Given the description of an element on the screen output the (x, y) to click on. 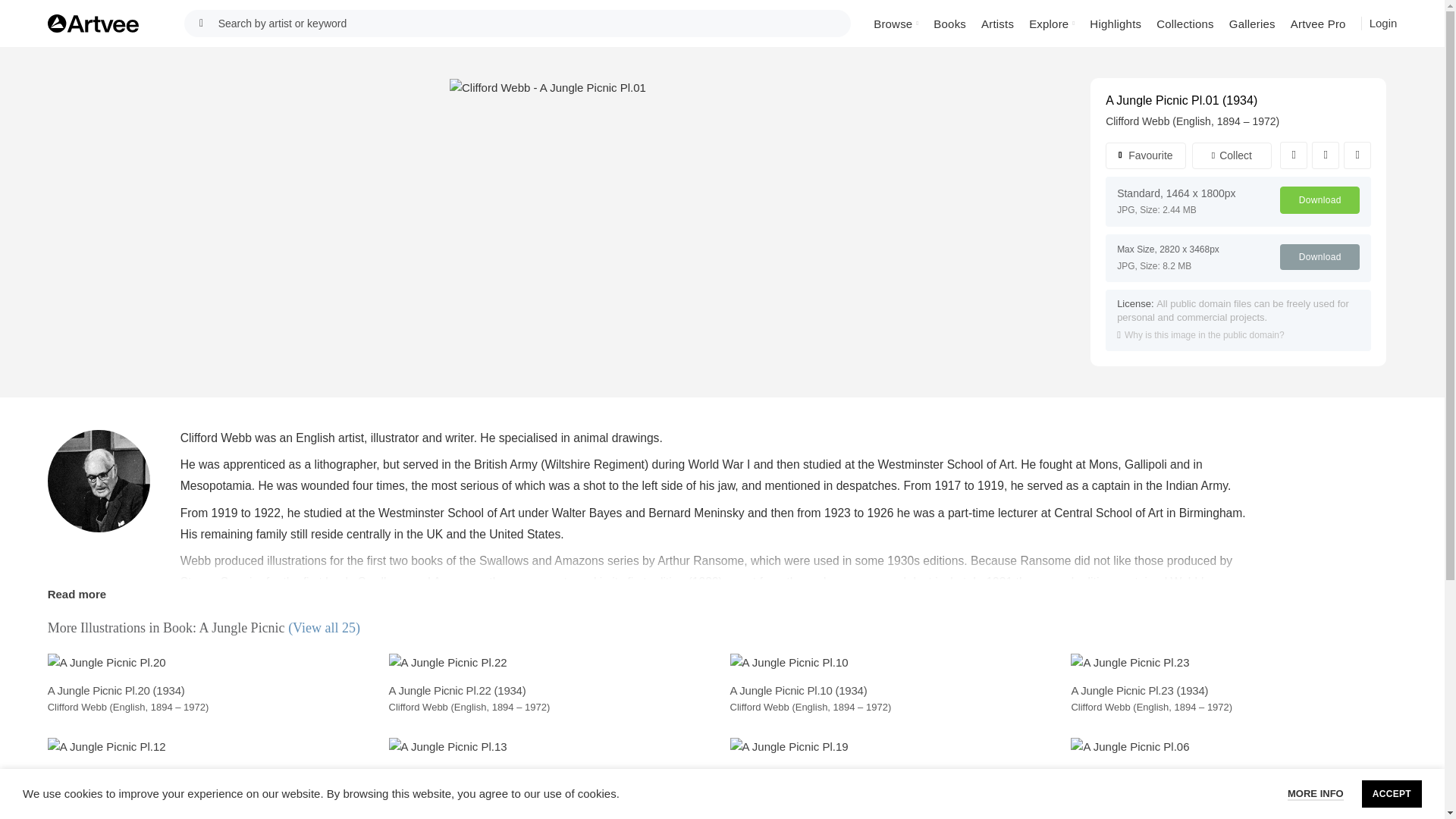
SEARCH (201, 22)
Collections (1184, 23)
Galleries (1251, 23)
Clifford Webb (1137, 121)
Explore (1051, 23)
Artvee Pro (1318, 23)
Twitter (1325, 154)
Clifford Webb (98, 480)
Highlights (1114, 23)
Pinterest (1357, 154)
Facebook (1293, 154)
Download (1319, 199)
Browse (896, 23)
Collect (1232, 155)
Login (1383, 22)
